Given the description of an element on the screen output the (x, y) to click on. 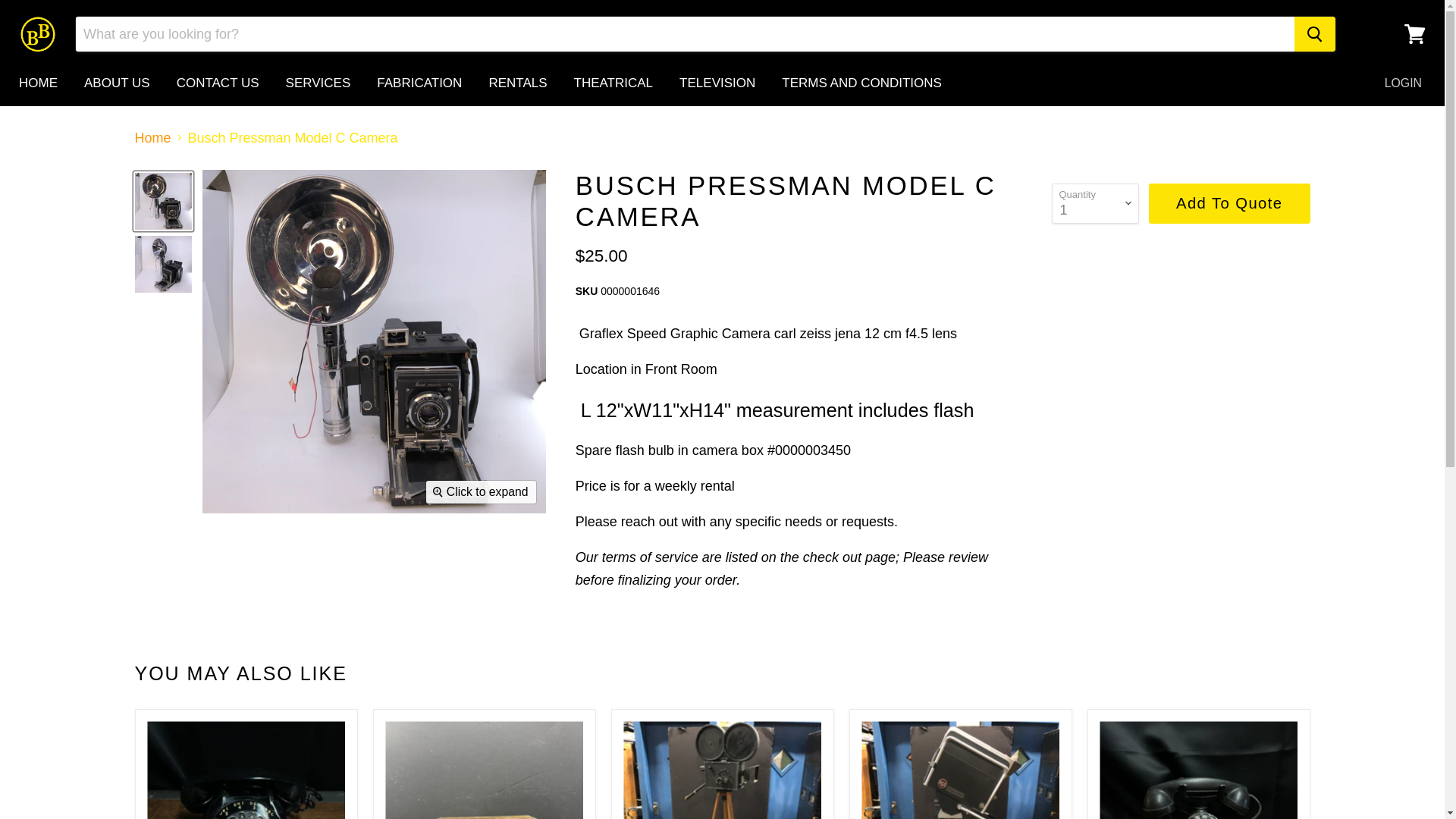
CONTACT US (217, 82)
TELEVISION (717, 82)
TERMS AND CONDITIONS (861, 82)
Home (153, 138)
LOGIN (1403, 82)
HOME (37, 82)
ABOUT US (116, 82)
RENTALS (517, 82)
SERVICES (318, 82)
View cart (1414, 33)
THEATRICAL (613, 82)
FABRICATION (419, 82)
